Given the description of an element on the screen output the (x, y) to click on. 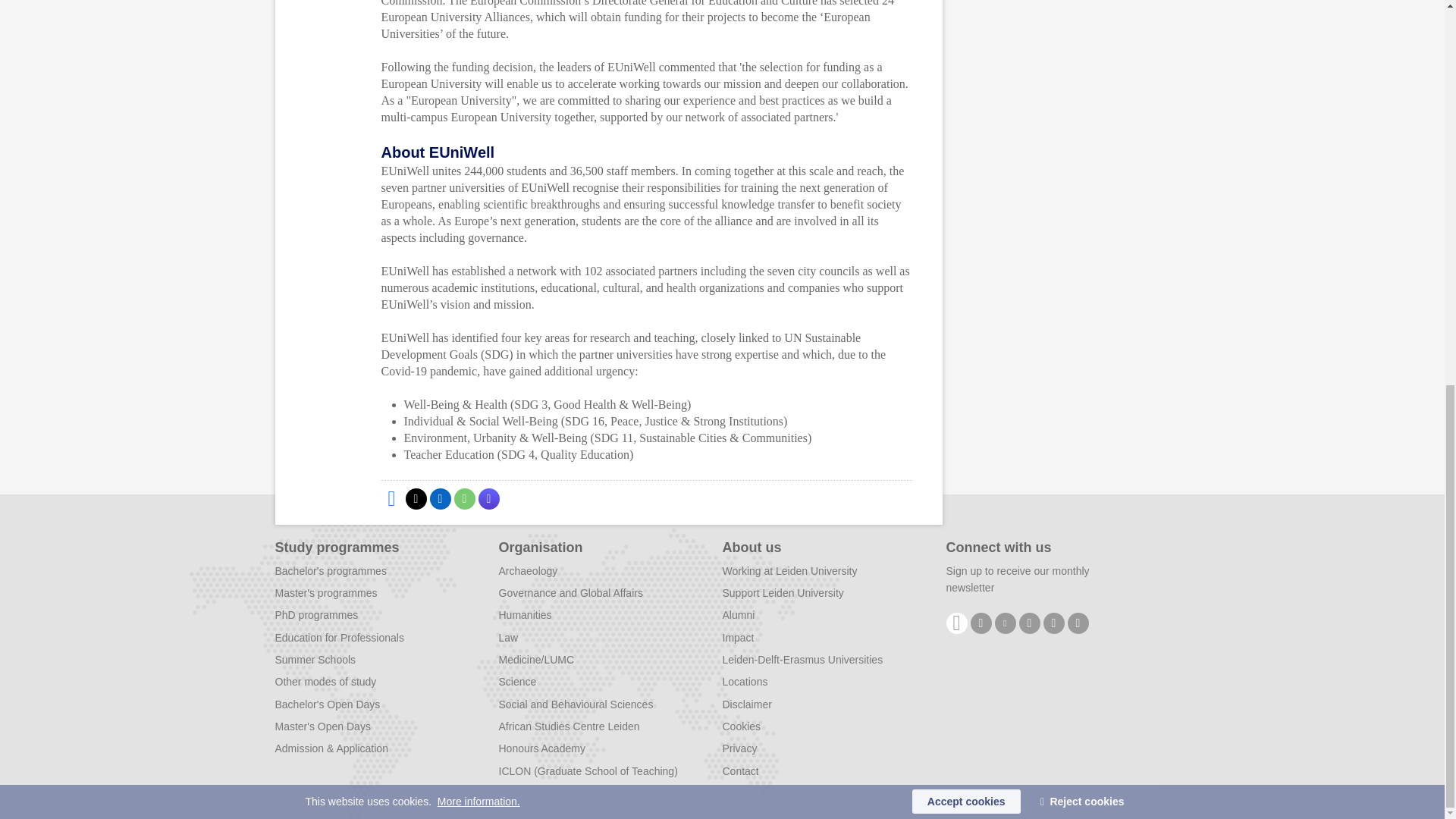
Share by Mastodon (488, 498)
Share by WhatsApp (463, 498)
Share on LinkedIn (439, 498)
Share on X (415, 498)
Share on Facebook (390, 498)
